Given the description of an element on the screen output the (x, y) to click on. 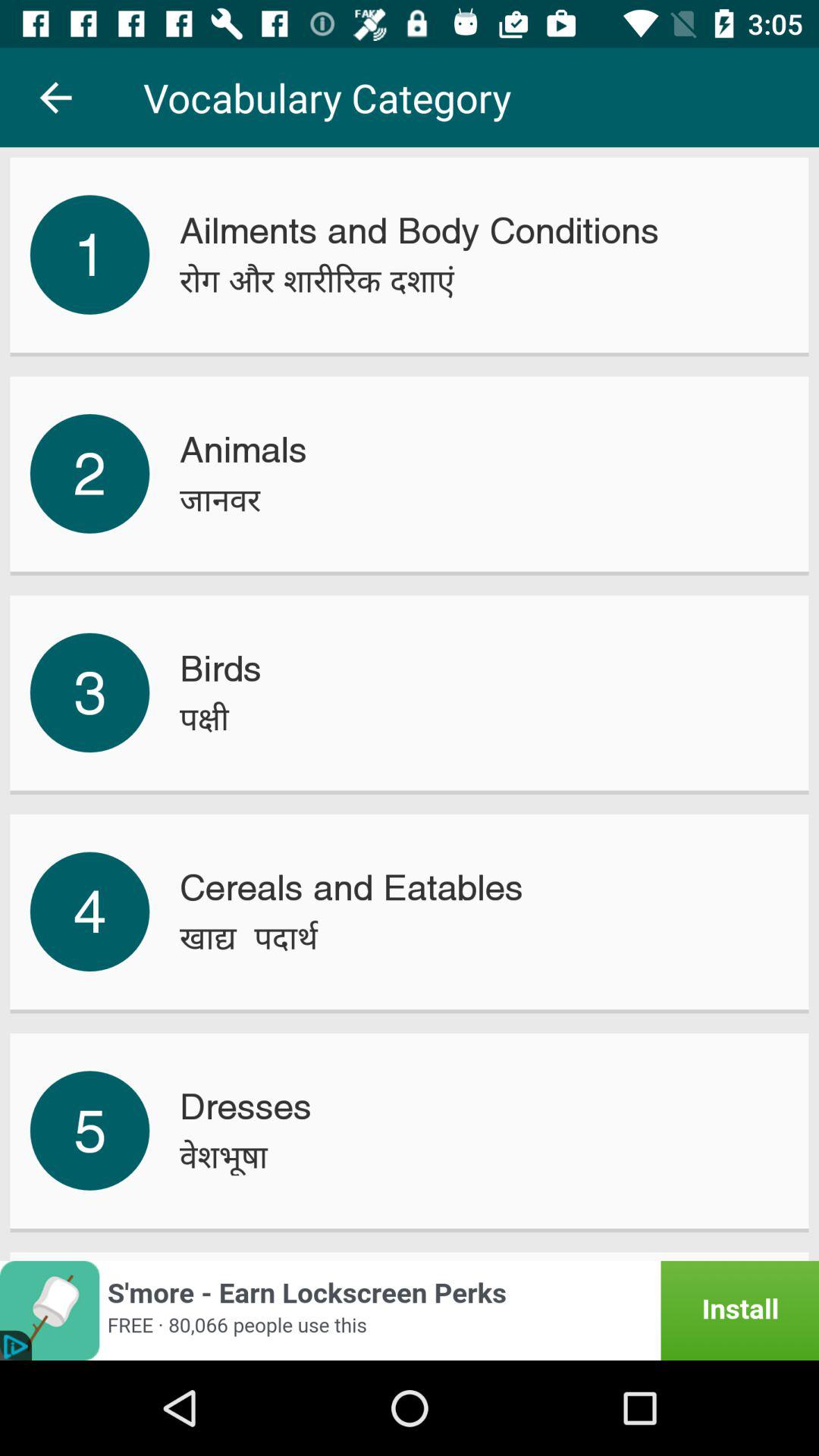
flip until 1 item (89, 254)
